Given the description of an element on the screen output the (x, y) to click on. 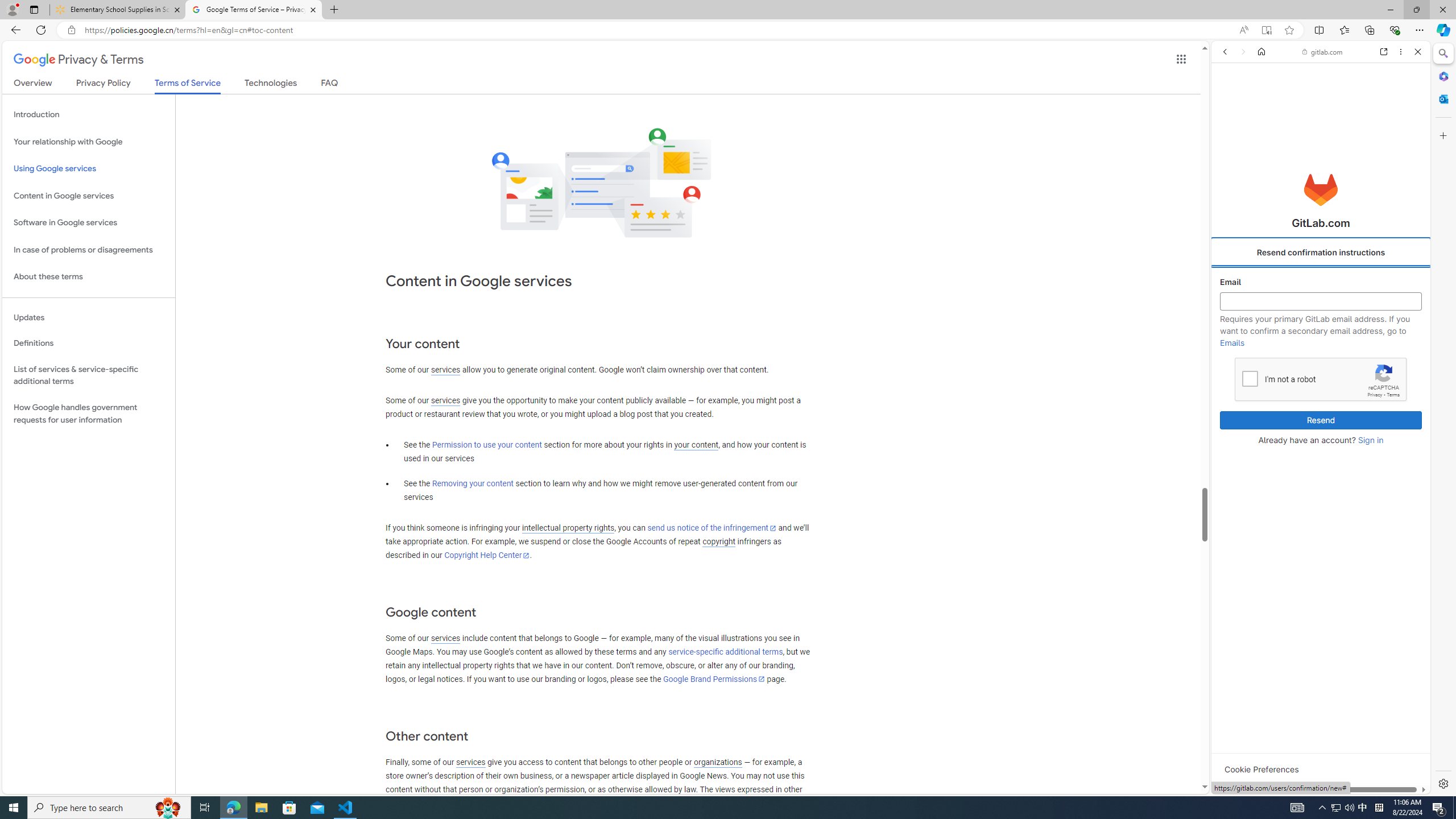
Resend confirmation instructions (1321, 252)
Login (1320, 281)
